Given the description of an element on the screen output the (x, y) to click on. 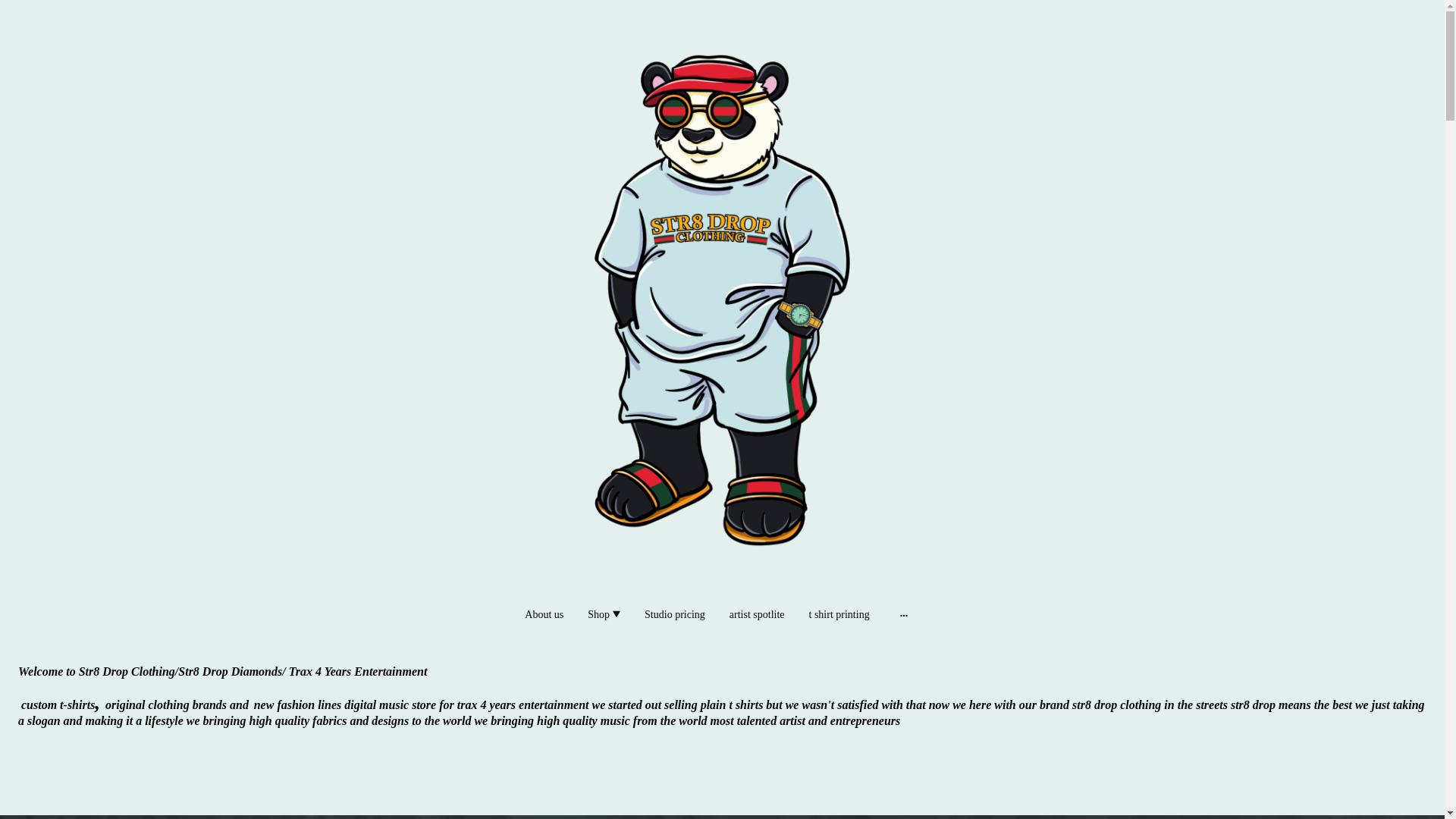
t shirt printing (839, 614)
About us (543, 614)
artist spotlite (757, 614)
Studio pricing (675, 614)
Shop (603, 614)
